Given the description of an element on the screen output the (x, y) to click on. 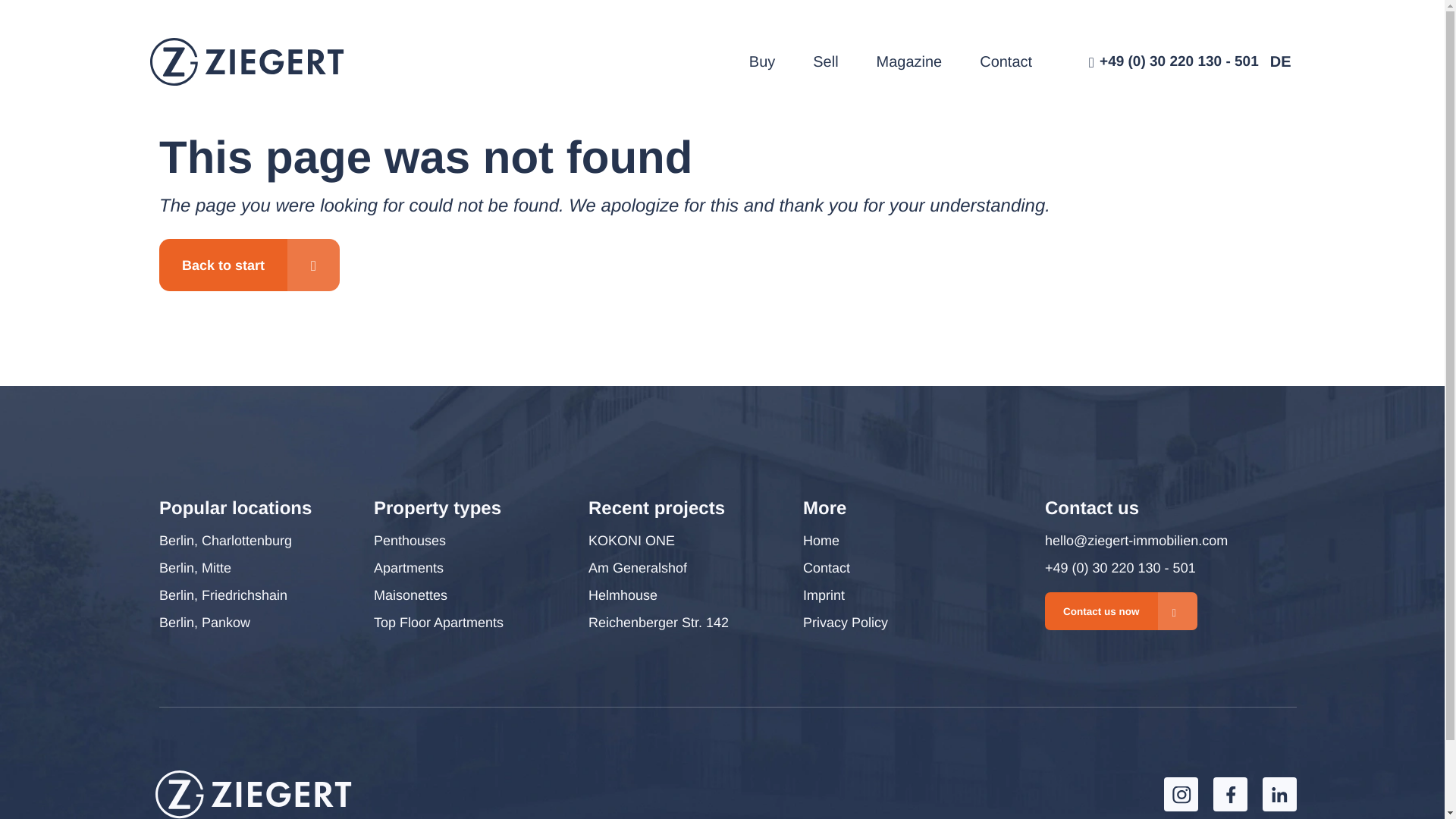
Sell (825, 62)
Back to start (248, 265)
Contact (1005, 62)
Buy (761, 62)
Berlin, Mitte (194, 567)
Contact (1005, 62)
Berlin, Friedrichshain (222, 595)
Sell (825, 62)
DE (1280, 61)
Berlin, Charlottenburg (225, 540)
Buy (761, 62)
Berlin, Pankow (204, 622)
Magazine (909, 62)
Popular locations (234, 508)
Magazine (909, 62)
